Given the description of an element on the screen output the (x, y) to click on. 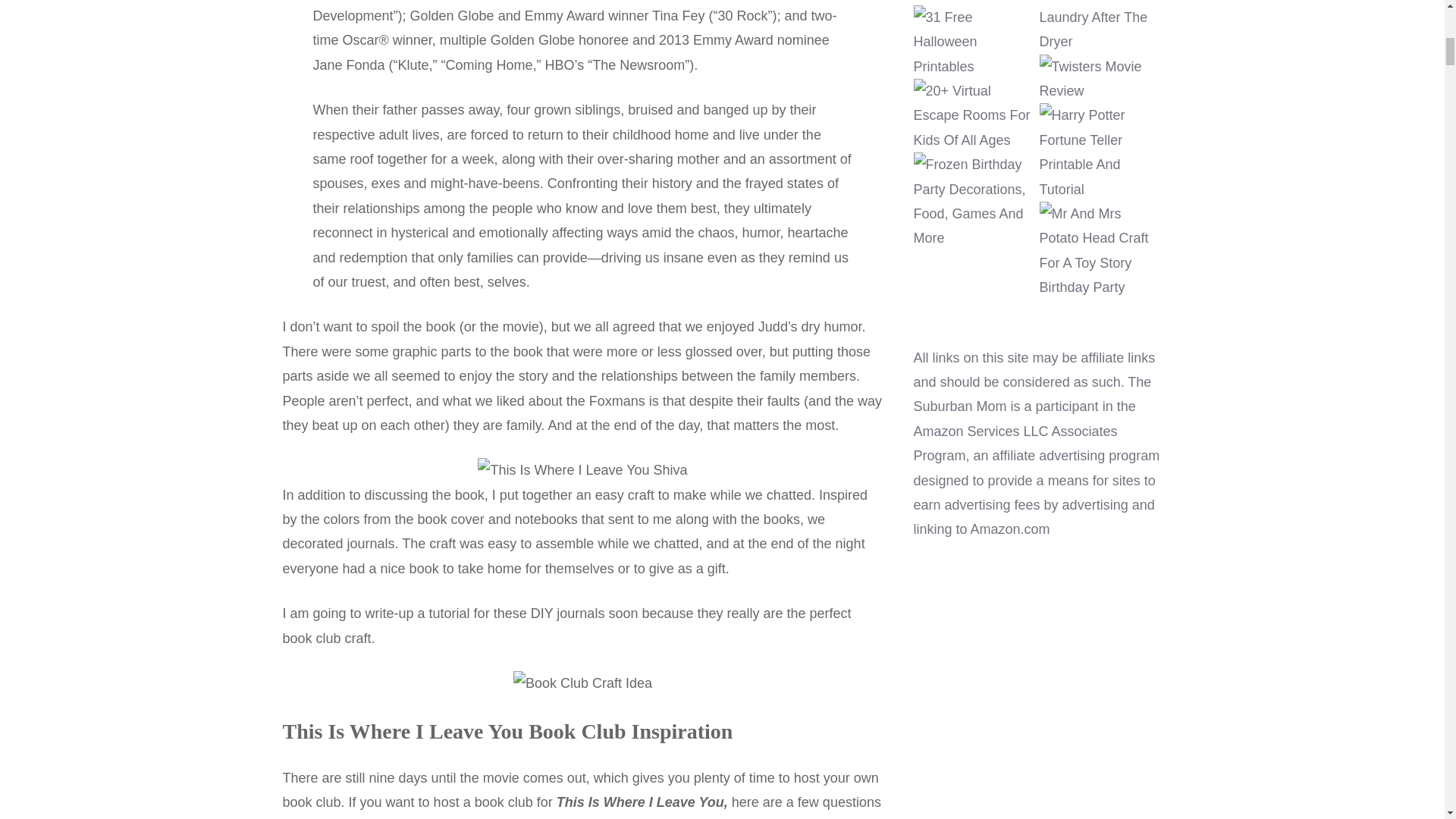
31 Free Halloween Printables (973, 41)
Scroll back to top (1406, 720)
Frozen Birthday Party Decorations, Food, Games And More (973, 201)
Twisters Movie Review (1100, 79)
Harry Potter Fortune Teller Printable And Tutorial (1100, 152)
Homemade Mocha Frappe In Five Minutes (973, 2)
Mr And Mrs Potato Head Craft For A Toy Story Birthday Party (1100, 250)
